Given the description of an element on the screen output the (x, y) to click on. 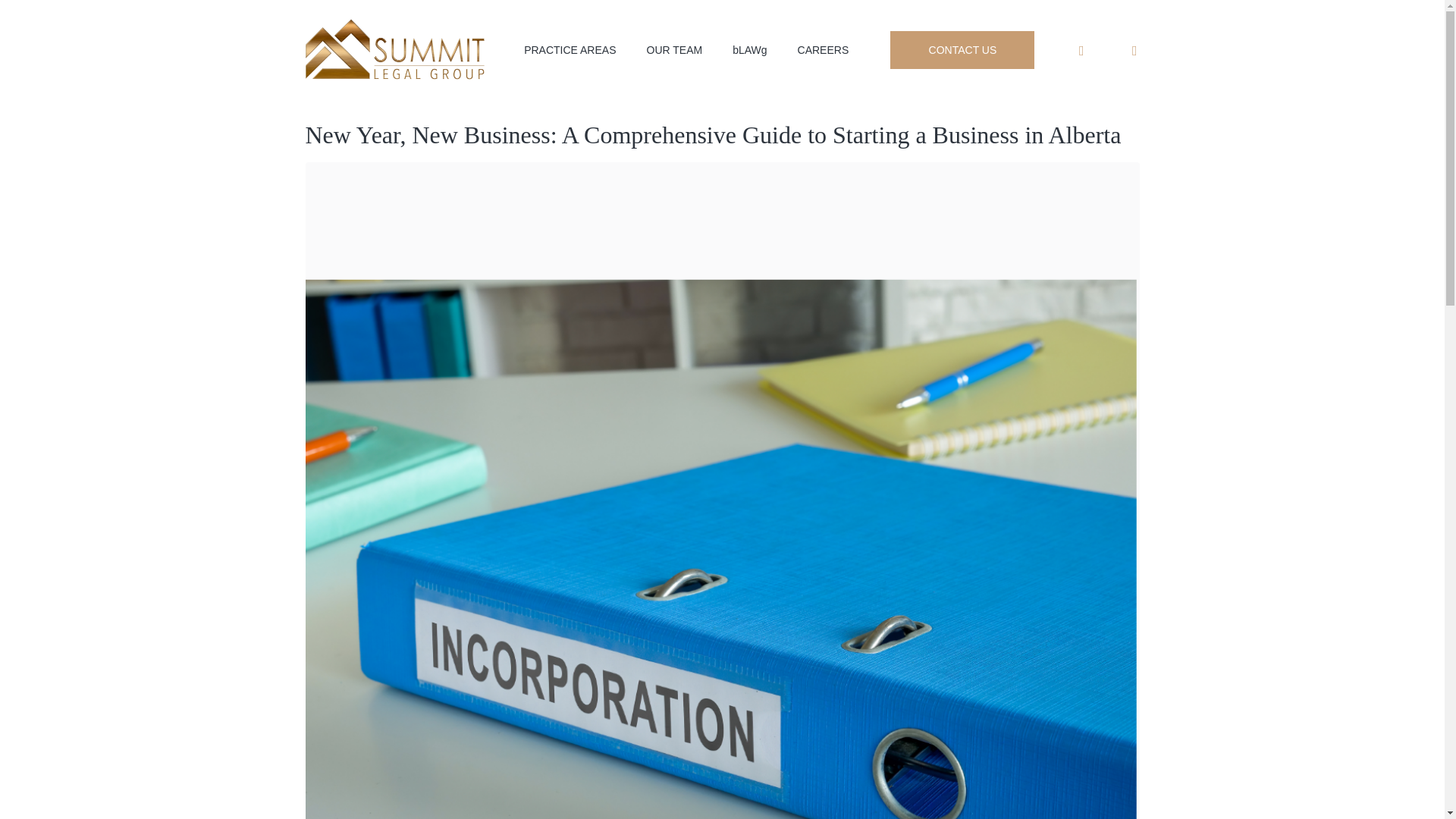
CAREERS (823, 50)
OUR TEAM (673, 50)
CONTACT US (961, 49)
PRACTICE AREAS (569, 50)
bLAWg (749, 50)
